Given the description of an element on the screen output the (x, y) to click on. 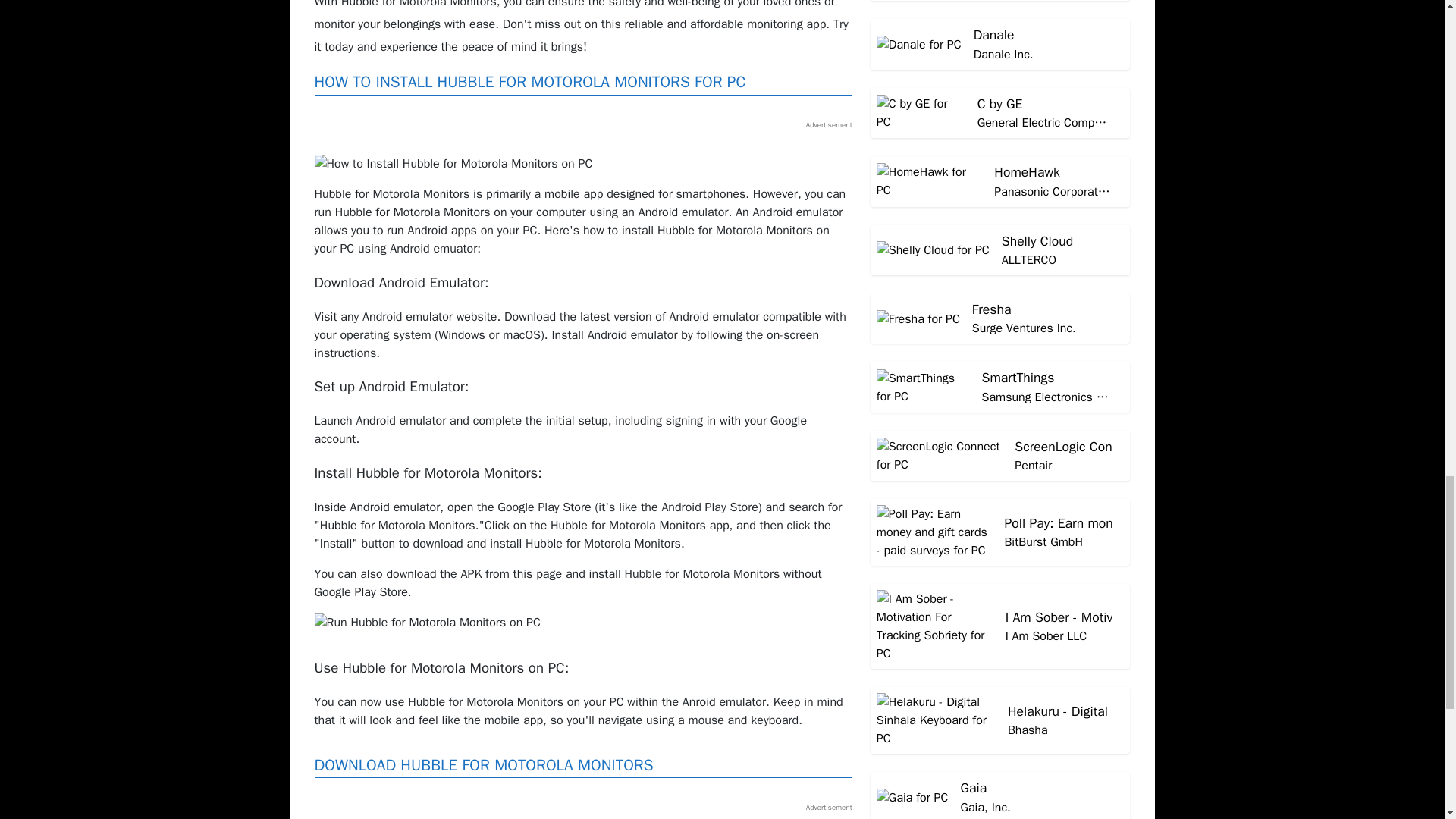
Run Hubble for Motorola Monitors on PC (427, 622)
How to Install Hubble for Motorola Monitors on PC (453, 163)
